Given the description of an element on the screen output the (x, y) to click on. 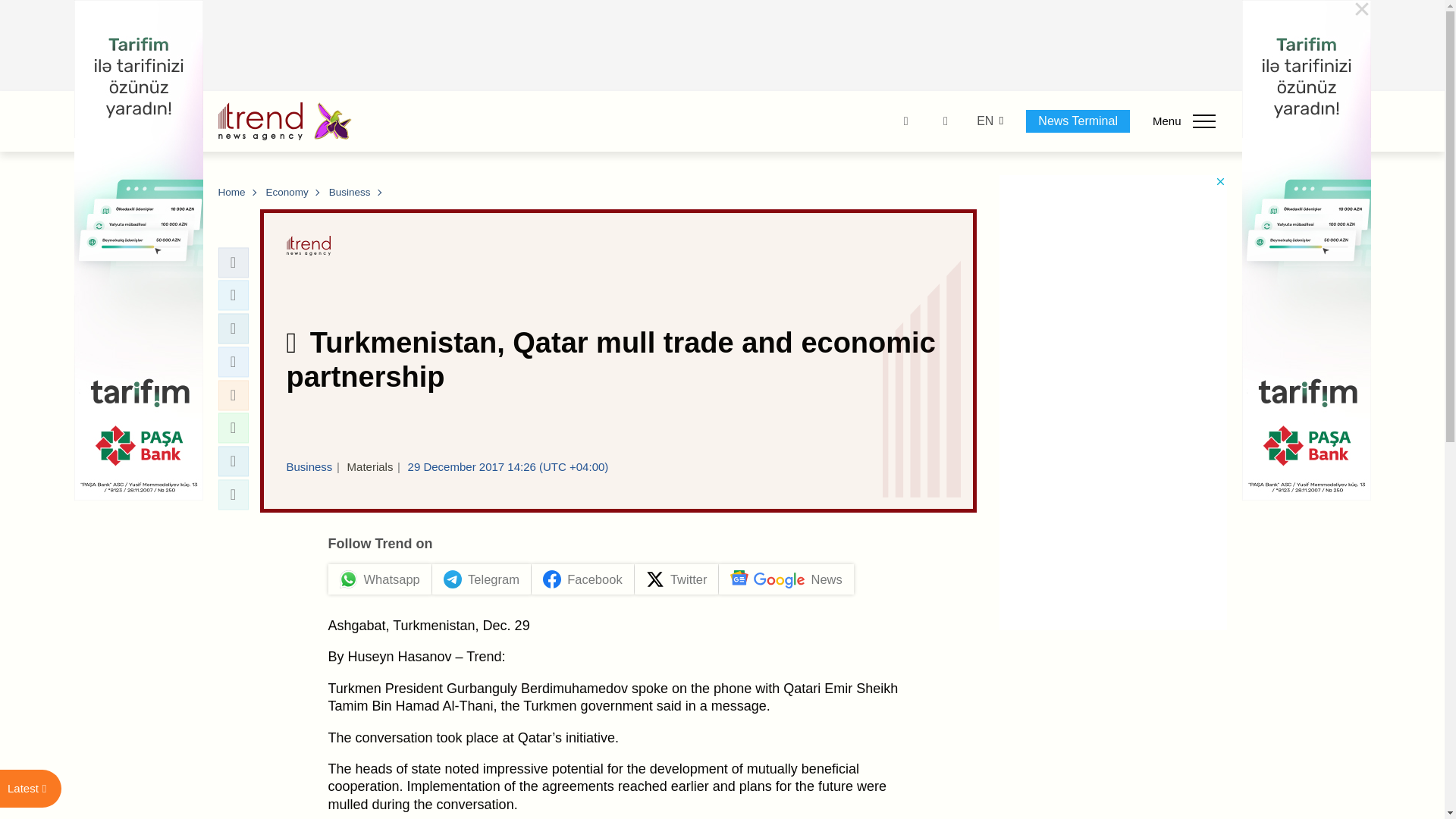
English (984, 121)
3rd party ad content (722, 45)
News Terminal (1077, 120)
EN (984, 121)
